Given the description of an element on the screen output the (x, y) to click on. 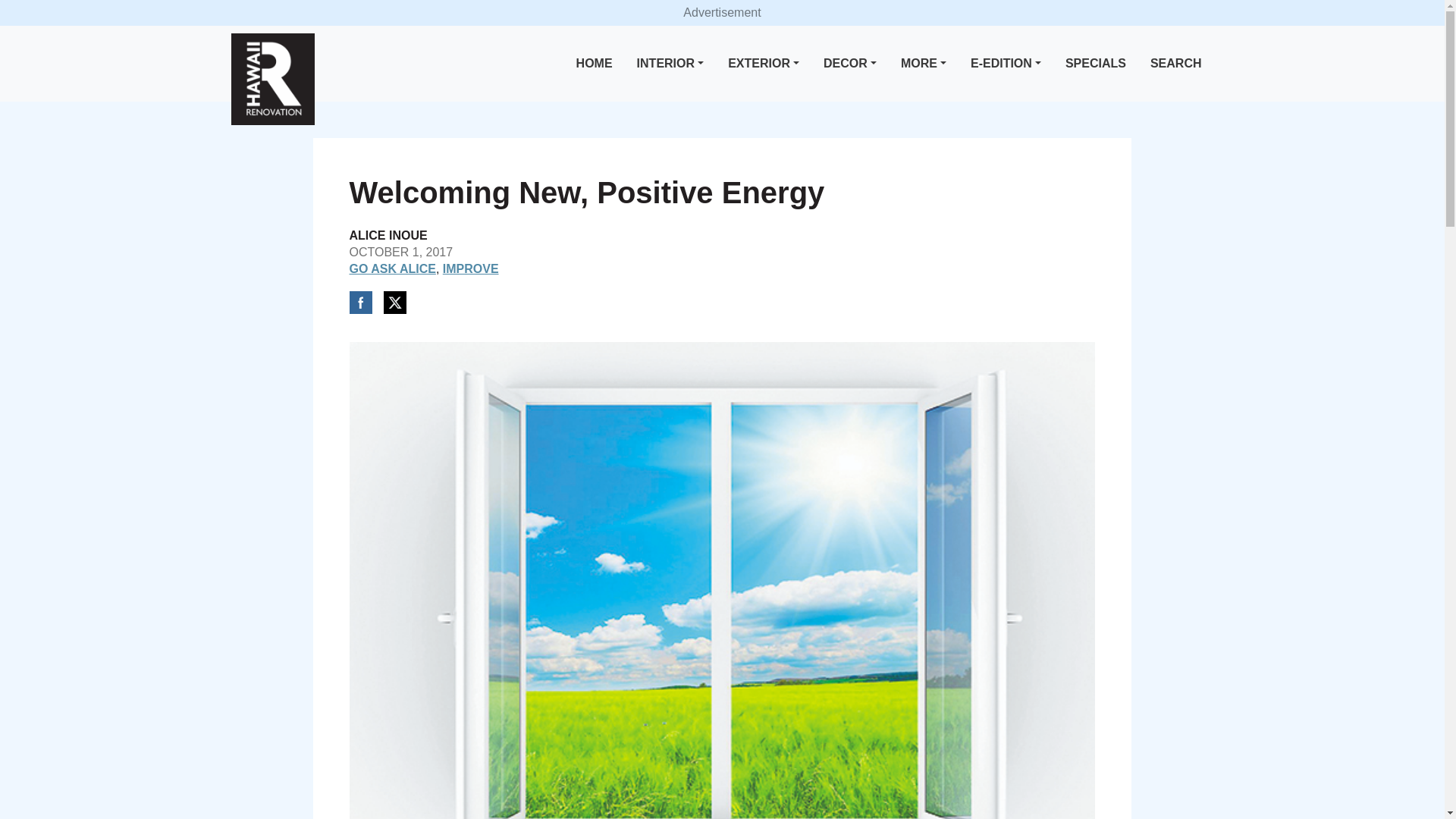
IMPROVE (470, 268)
HOME (594, 63)
MORE (923, 63)
Twitter (395, 302)
Facebook (360, 302)
GO ASK ALICE (392, 268)
INTERIOR (670, 63)
DECOR (849, 63)
SEARCH (1176, 63)
E-EDITION (1004, 63)
